Given the description of an element on the screen output the (x, y) to click on. 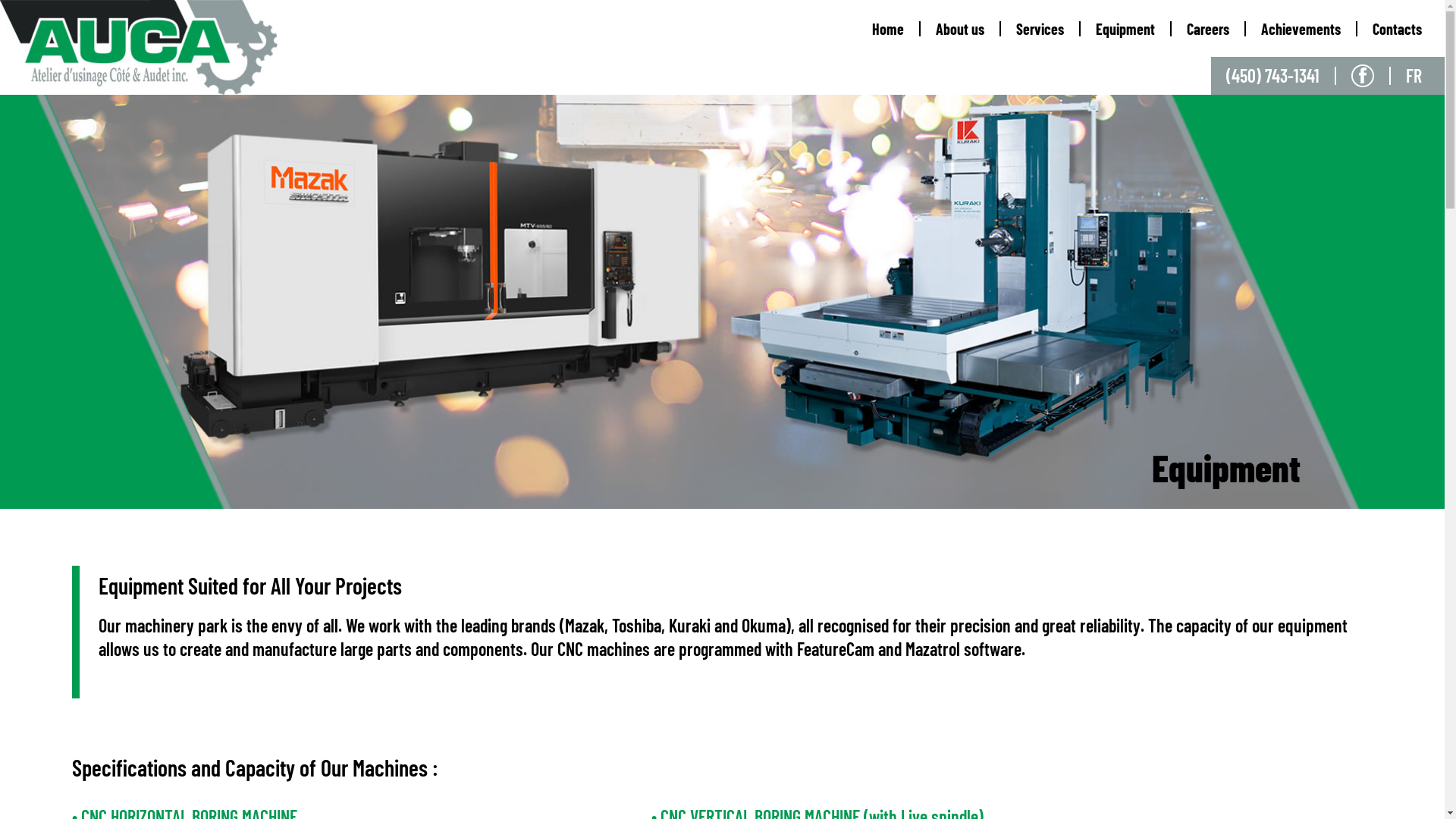
Contacts Element type: text (1400, 28)
FR Element type: text (1424, 75)
About us Element type: text (960, 28)
Services Element type: text (1040, 28)
Careers Element type: text (1208, 28)
Equipment Element type: text (1125, 28)
Achievements Element type: text (1301, 28)
Home Element type: text (888, 28)
(450) 743-1341 Element type: text (1281, 75)
